Given the description of an element on the screen output the (x, y) to click on. 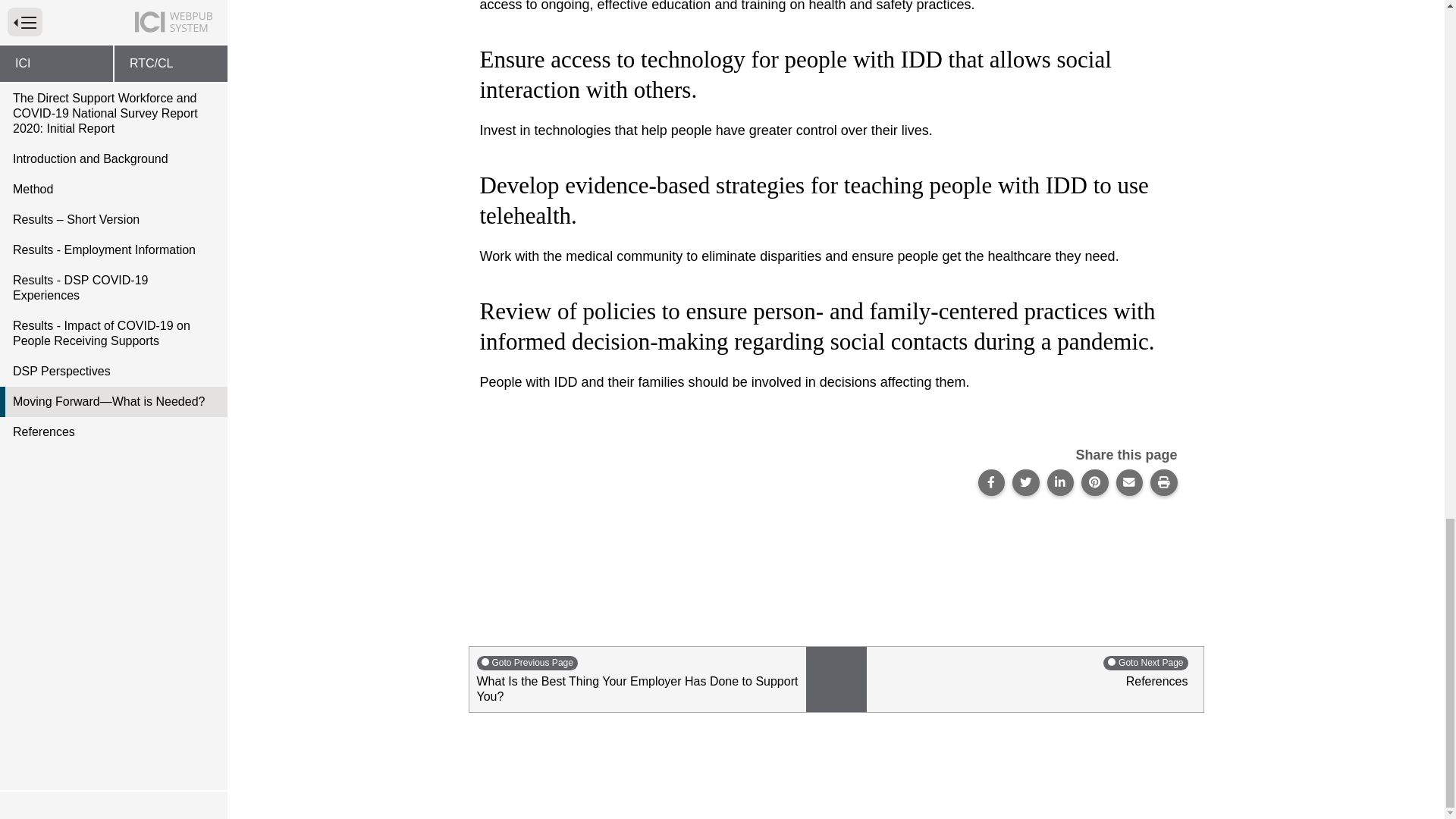
Share this page on Twitter. (1025, 482)
Share this page on Facebook. (992, 482)
Print this page. (1163, 482)
Share this page via email. (1129, 482)
Goto Next Page References (1034, 679)
Share this page on LinkedIn. (1060, 482)
Share this page on Pinterest. (1094, 482)
